Given the description of an element on the screen output the (x, y) to click on. 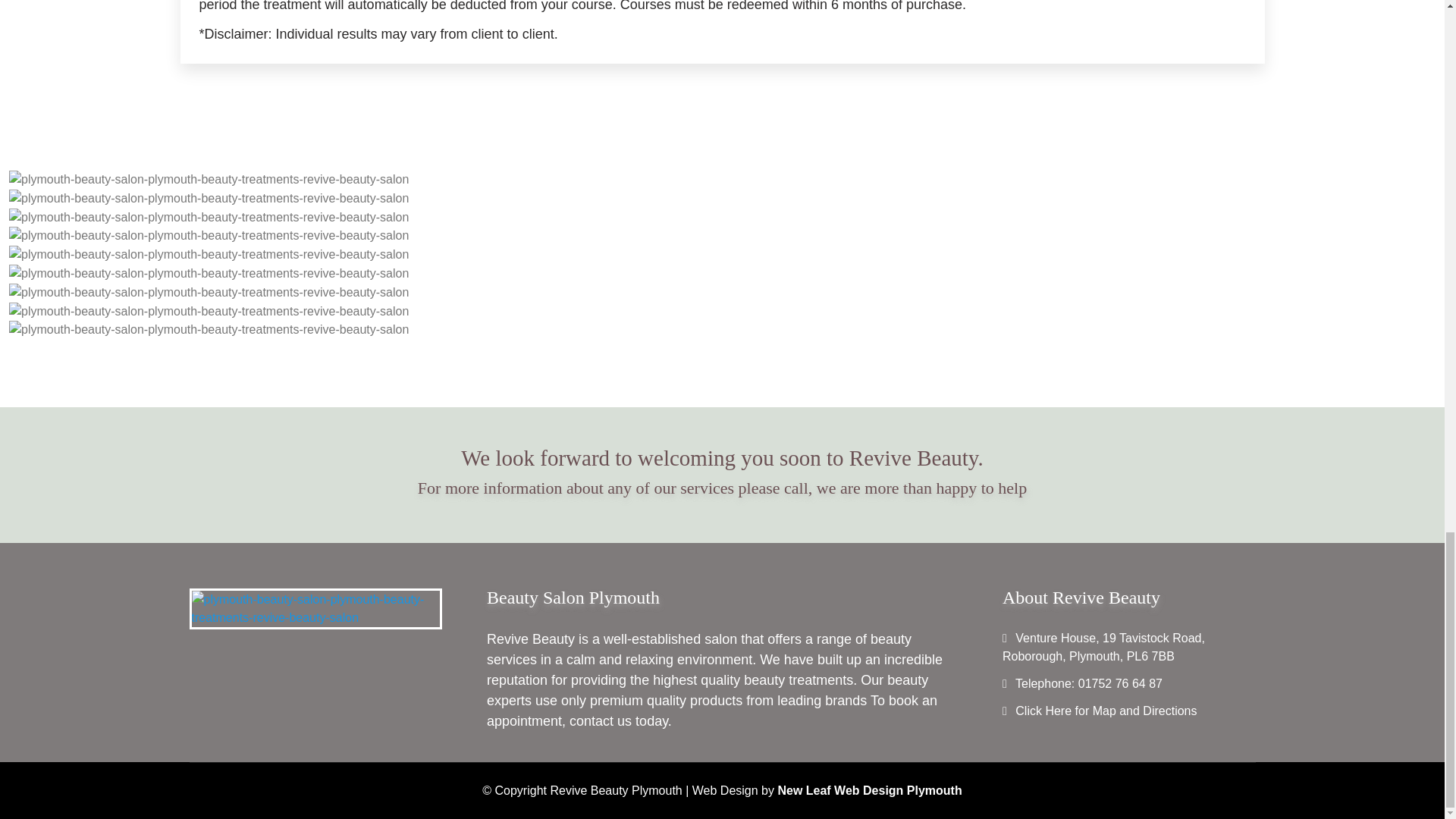
New Leaf Web Design Plymouth (868, 789)
Telephone: 01752 76 64 87 (1086, 683)
